Given the description of an element on the screen output the (x, y) to click on. 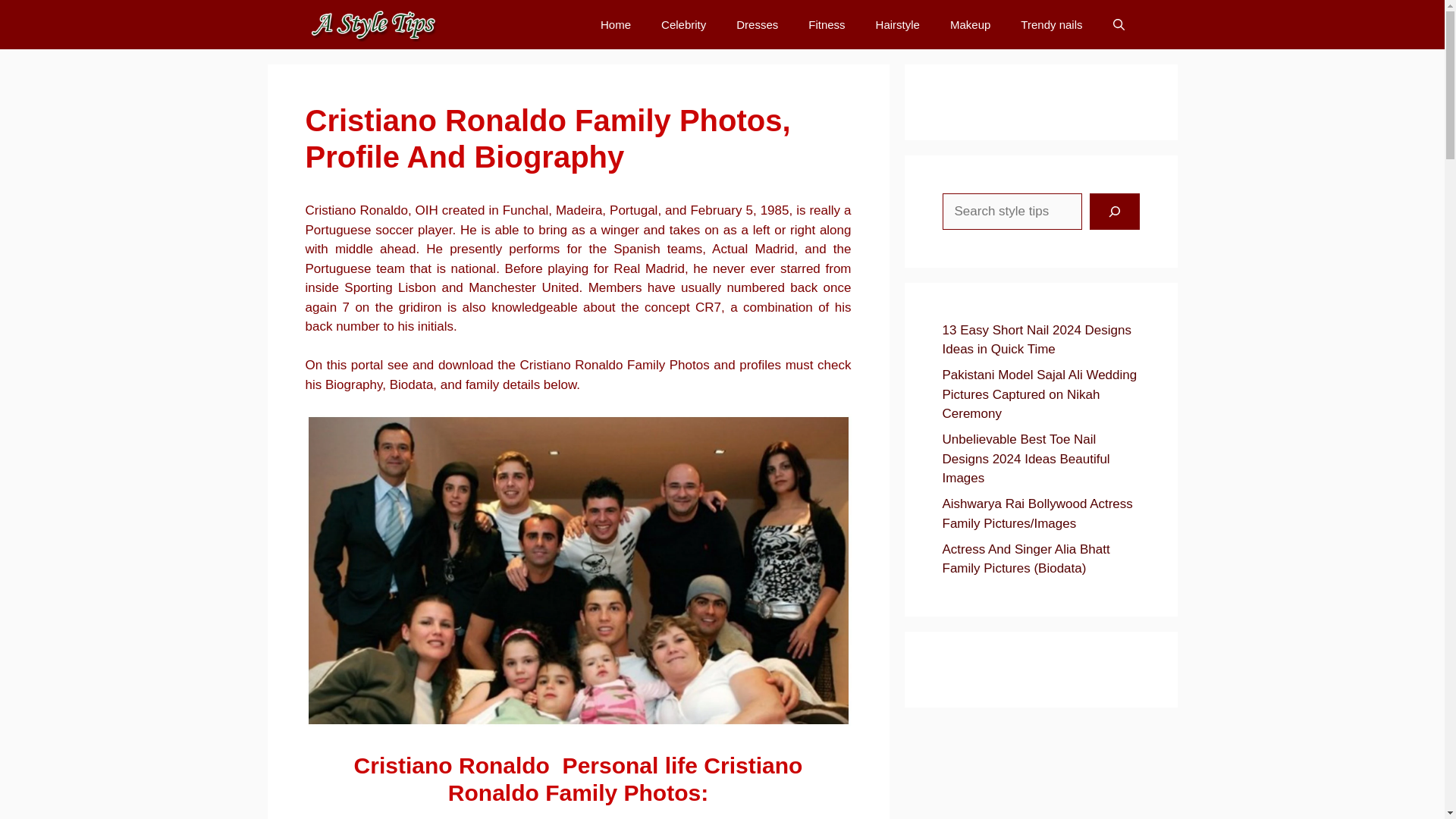
Hairstyle (897, 24)
Celebrity (683, 24)
Home (615, 24)
Makeup (970, 24)
Trendy nails (1051, 24)
Fitness (826, 24)
Dresses (756, 24)
13 Easy Short Nail 2024 Designs Ideas in Quick Time (1036, 339)
